Given the description of an element on the screen output the (x, y) to click on. 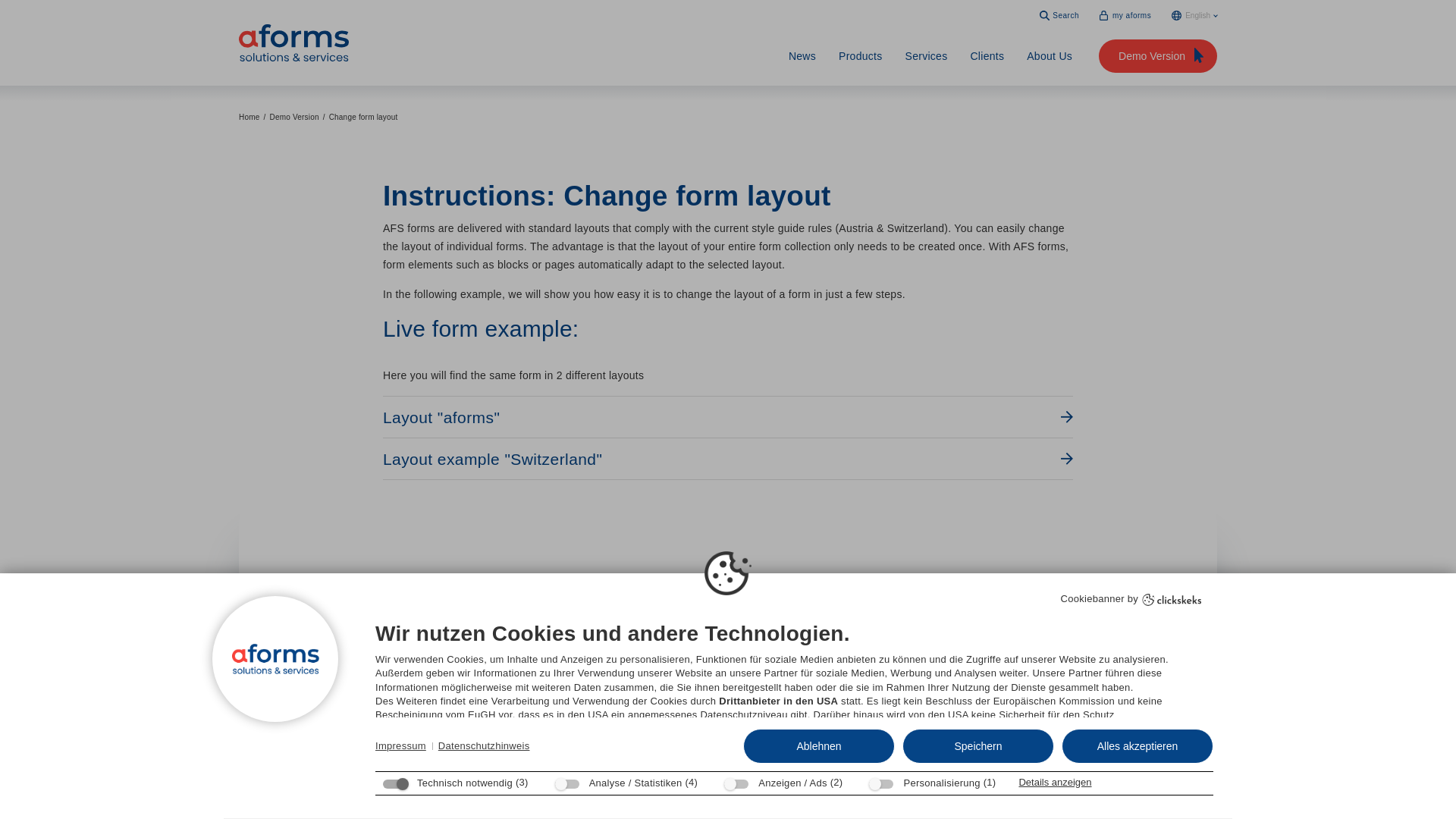
Search (1058, 15)
Services (926, 55)
English (1194, 15)
About Us (1048, 55)
Clickskeks Logo (1171, 599)
Products (860, 55)
my aforms (1125, 15)
Clients (986, 55)
Clickskeks (1171, 599)
News (802, 55)
